Given the description of an element on the screen output the (x, y) to click on. 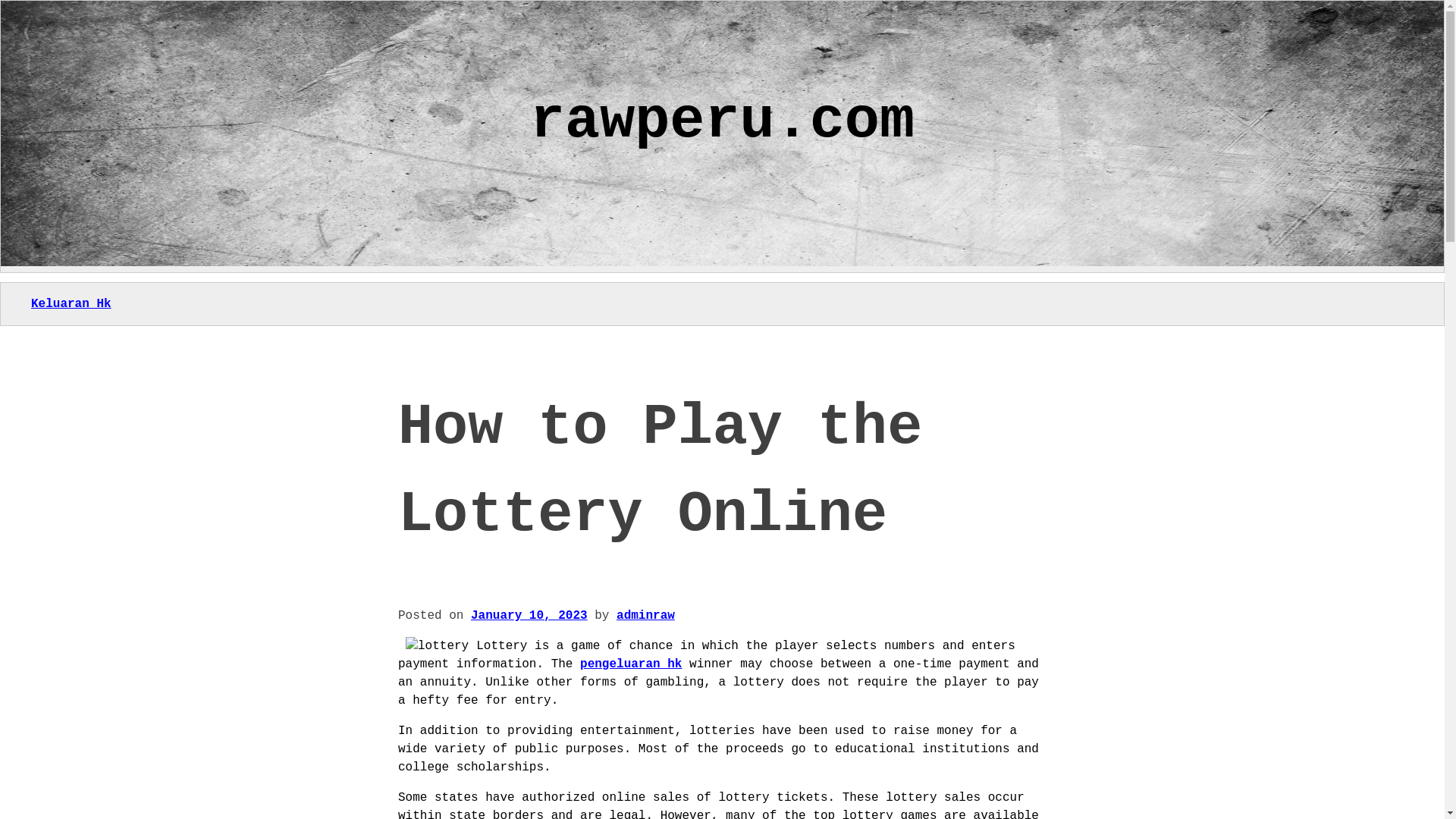
January 10, 2023 (529, 615)
adminraw (645, 615)
Keluaran Hk (71, 304)
pengeluaran hk (630, 663)
rawperu.com (721, 120)
